Given the description of an element on the screen output the (x, y) to click on. 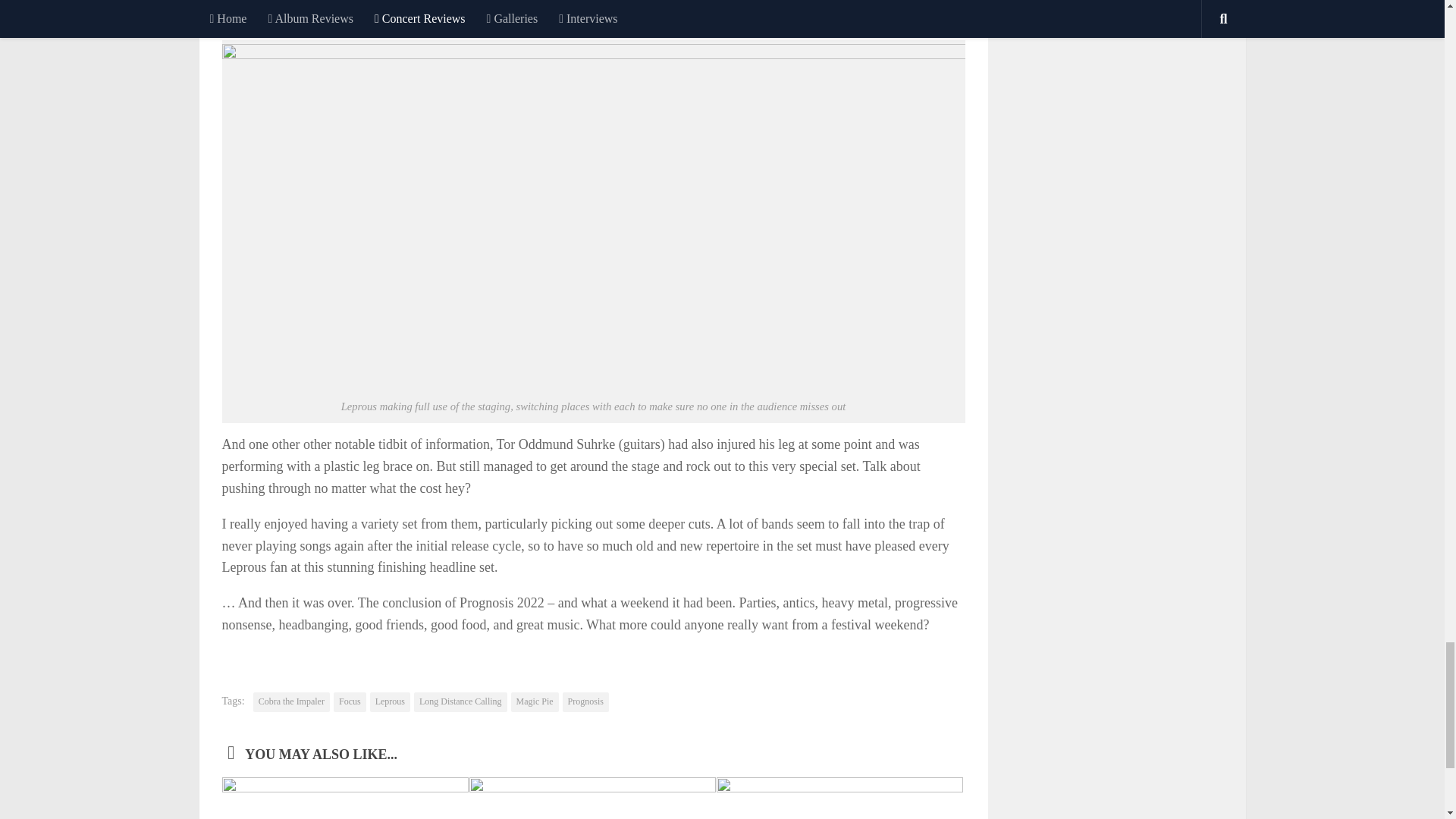
Leprous (389, 701)
Magic Pie (535, 701)
Cobra the Impaler (291, 701)
save his loved ones from the terrors of war (582, 11)
Prognosis (585, 701)
Focus (349, 701)
Long Distance Calling (459, 701)
